Given the description of an element on the screen output the (x, y) to click on. 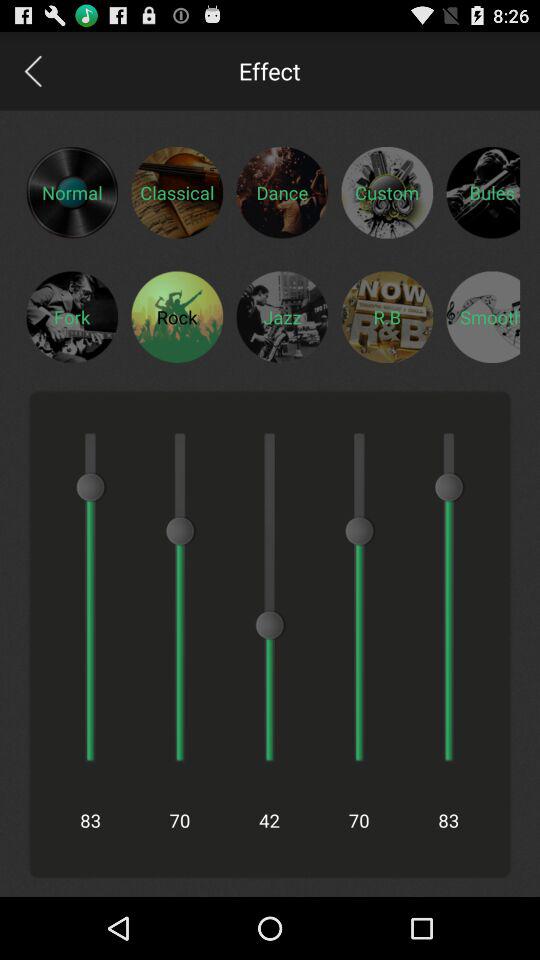
select fork effect (72, 316)
